Given the description of an element on the screen output the (x, y) to click on. 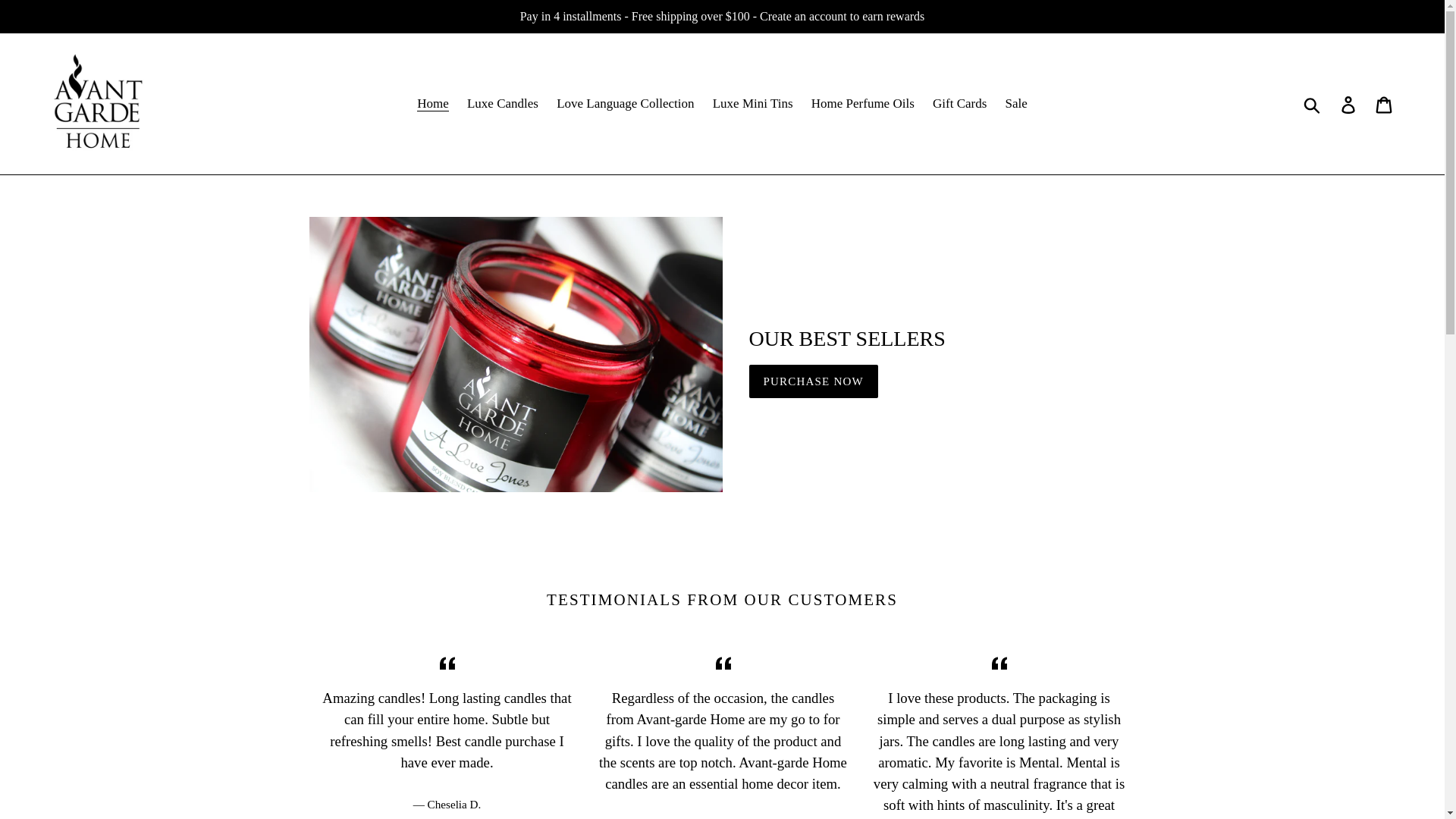
Love Language Collection (624, 103)
Sale (1016, 103)
Luxe Candles (503, 103)
Luxe Mini Tins (752, 103)
Submit (1313, 103)
Gift Cards (959, 103)
Home (433, 103)
Home Perfume Oils (862, 103)
Log in (1349, 103)
Cart (1385, 103)
PURCHASE NOW (813, 381)
